Given the description of an element on the screen output the (x, y) to click on. 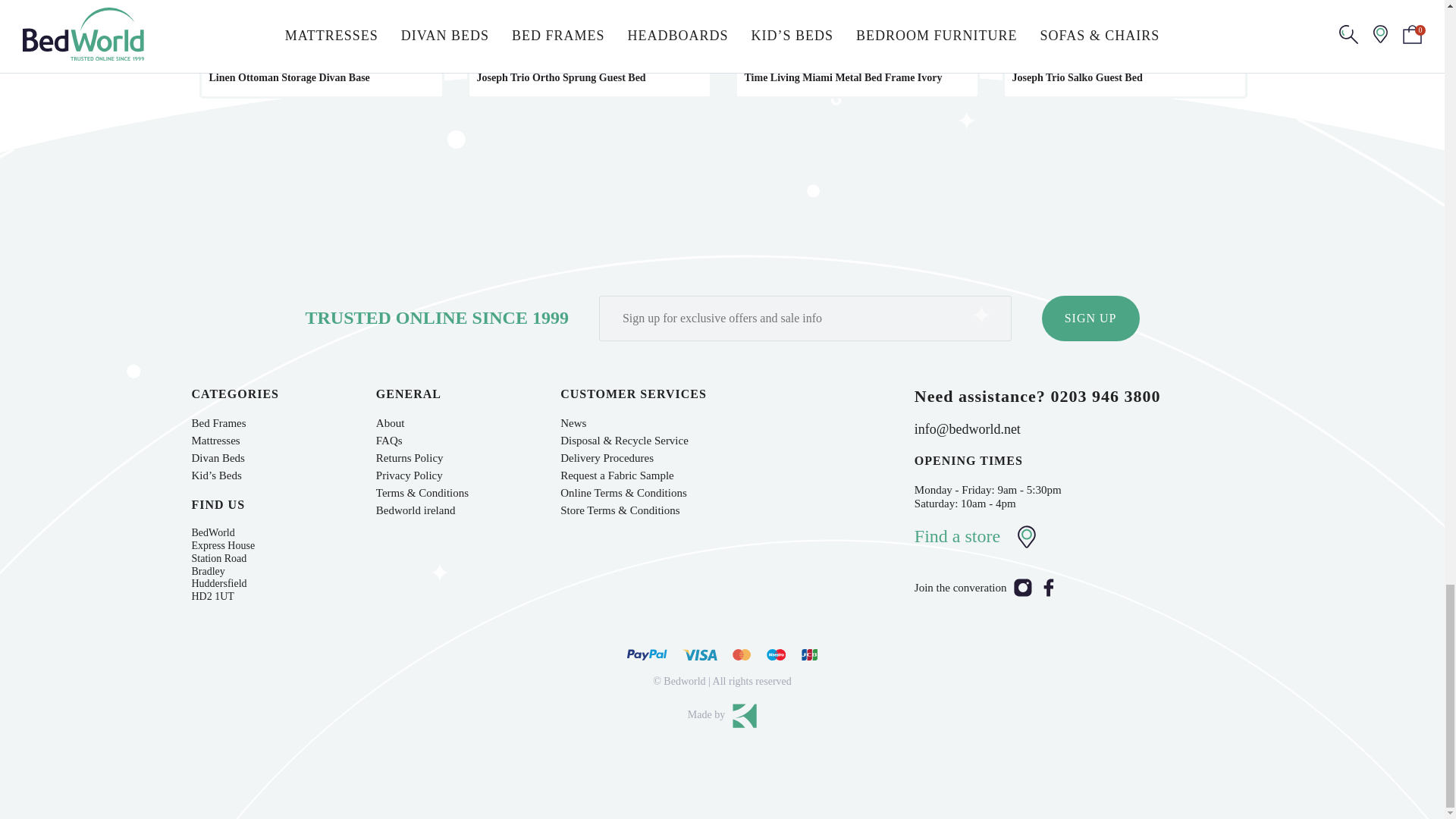
facebook (1048, 592)
instagram (1022, 592)
Made by Fishtank Agency (722, 715)
